Given the description of an element on the screen output the (x, y) to click on. 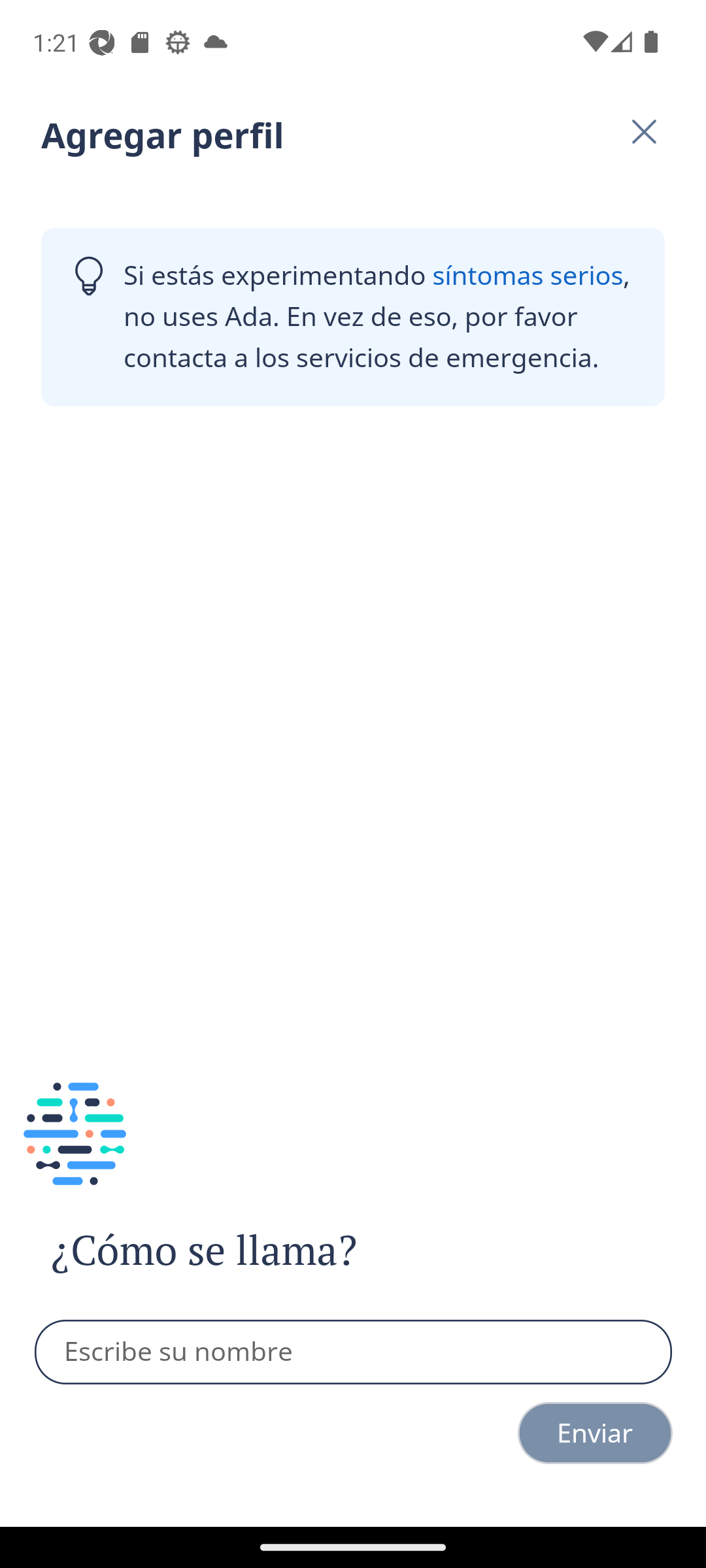
¿Cómo se llama? (240, 1250)
Escribe su nombre (353, 1352)
Enviar (594, 1432)
